Given the description of an element on the screen output the (x, y) to click on. 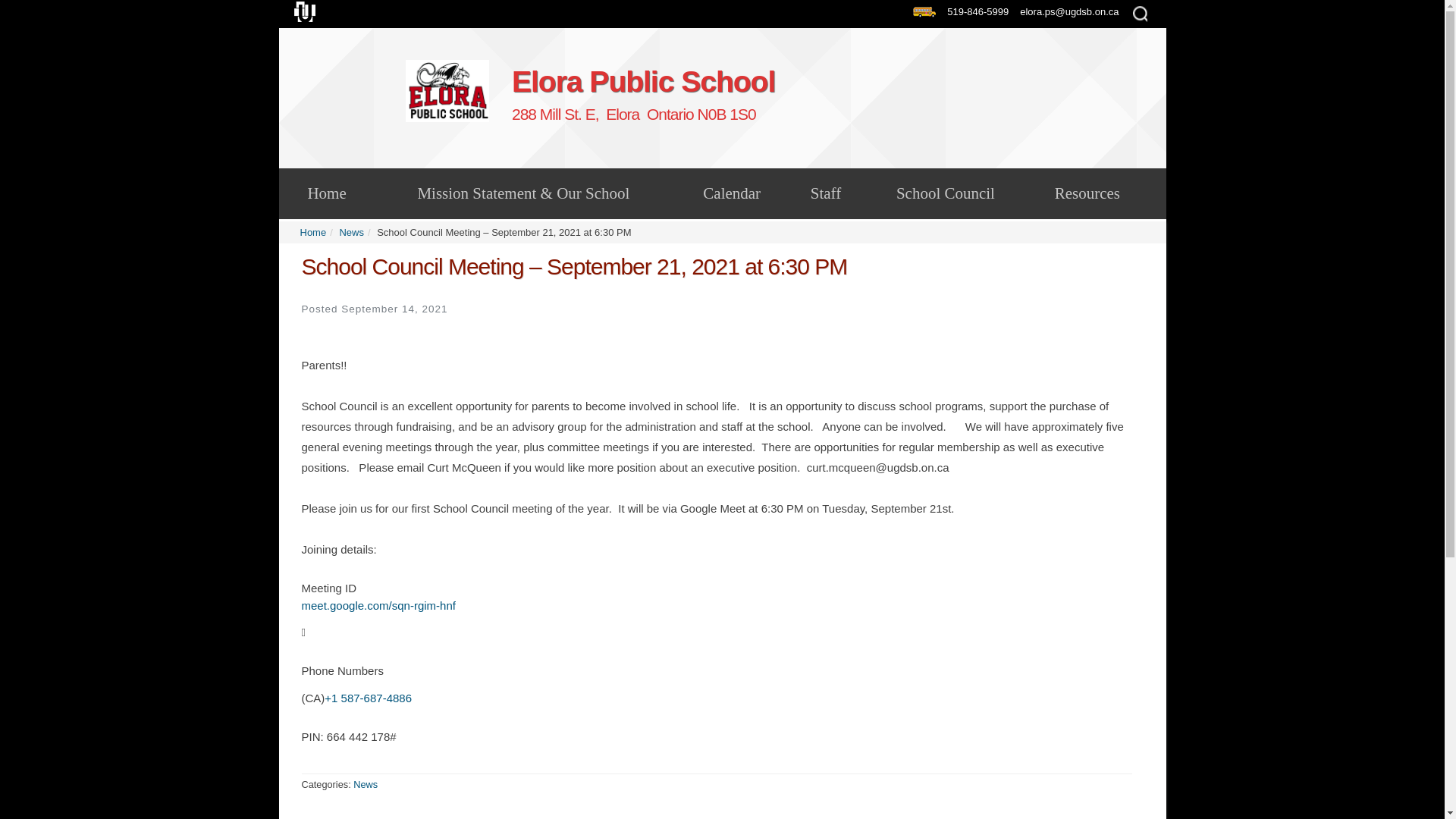
School Council (946, 193)
Bus Transportation Information (927, 11)
News (365, 784)
519-846-5999 (980, 10)
Resources (1086, 193)
Staff (825, 193)
Calendar (731, 193)
Home (312, 232)
Staff (825, 193)
Home (327, 193)
News (351, 232)
Search (24, 9)
Elora Public School (833, 94)
Calendar (447, 90)
